Given the description of an element on the screen output the (x, y) to click on. 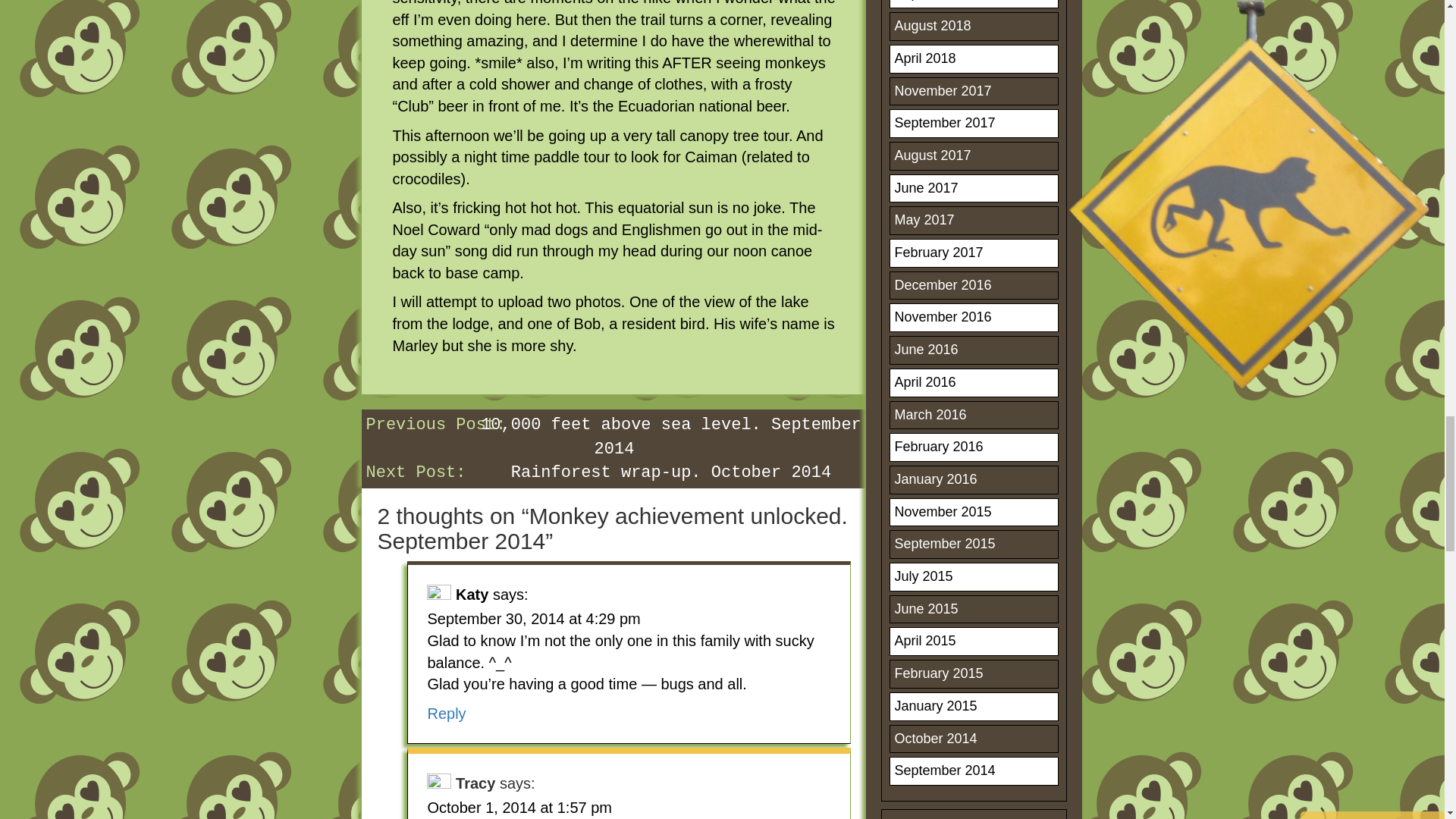
10,000 feet above sea level. September 2014 (670, 436)
October 1, 2014 at 1:57 pm (518, 807)
September 30, 2014 at 4:29 pm (533, 618)
Reply (445, 713)
Rainforest wrap-up. October 2014 (671, 472)
